Given the description of an element on the screen output the (x, y) to click on. 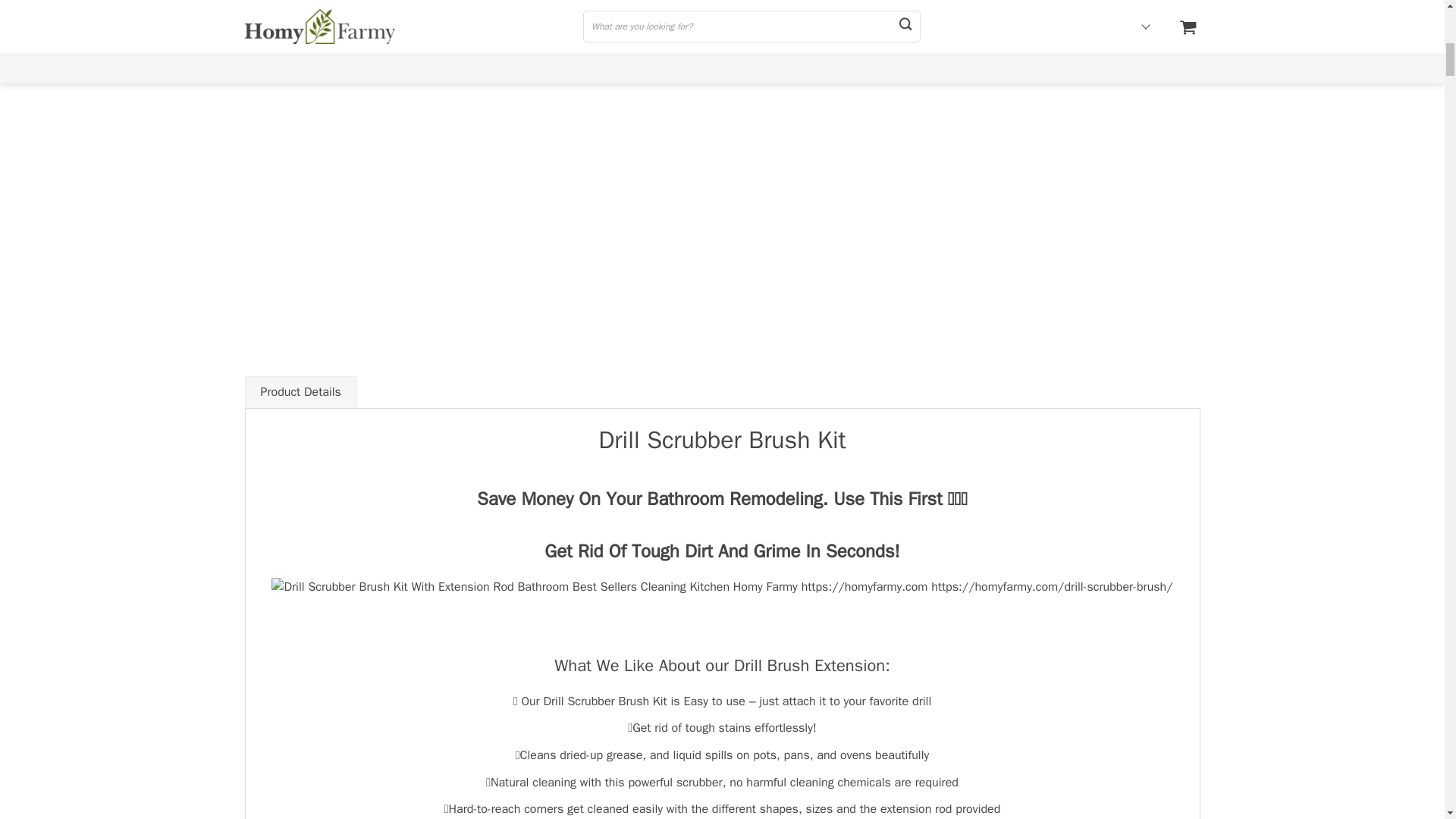
Drill Scrubber Brush Kit With Extension Rod (721, 587)
